Given the description of an element on the screen output the (x, y) to click on. 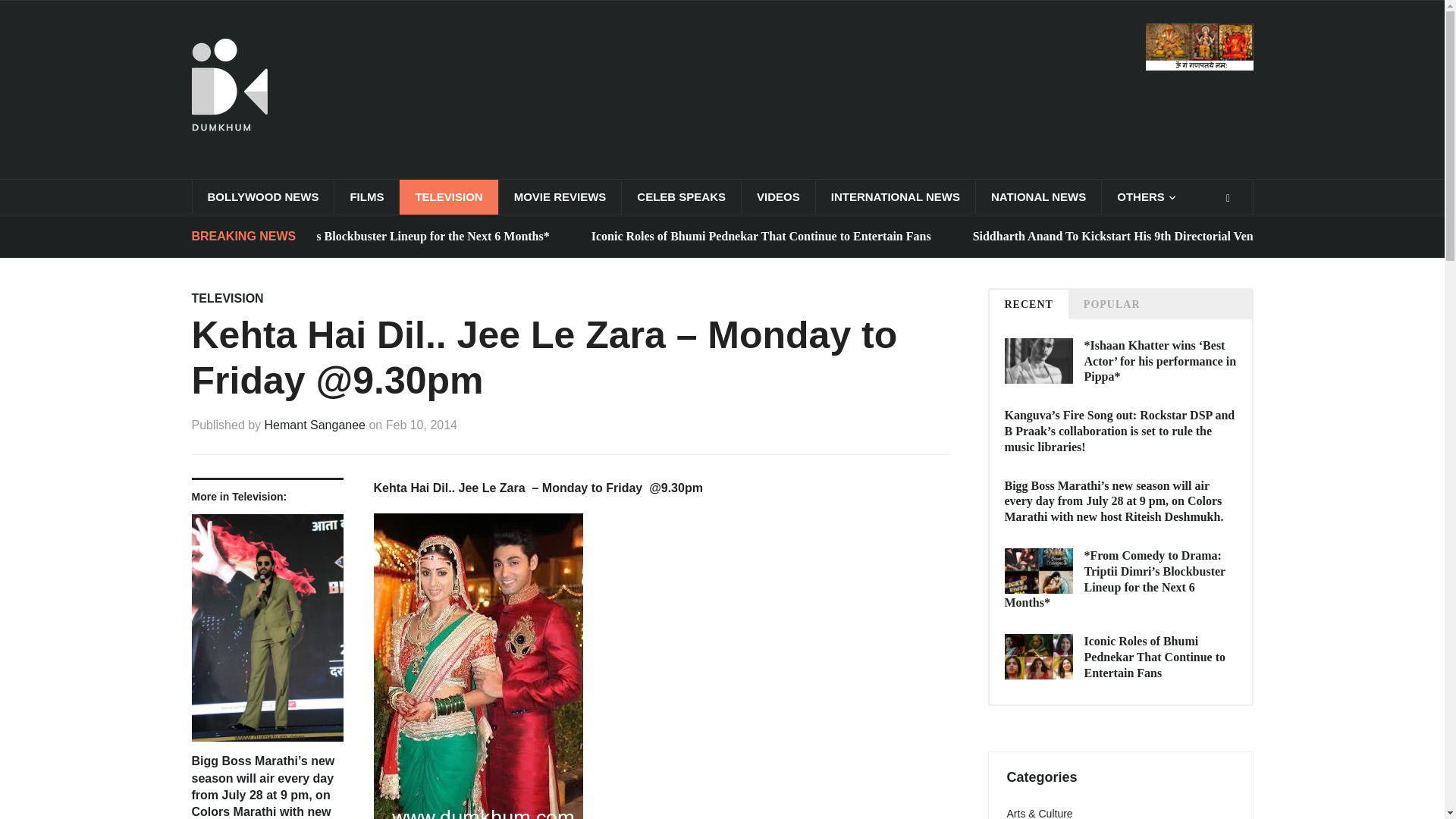
Recent (1027, 304)
Posts by Hemant Sanganee (314, 424)
